Given the description of an element on the screen output the (x, y) to click on. 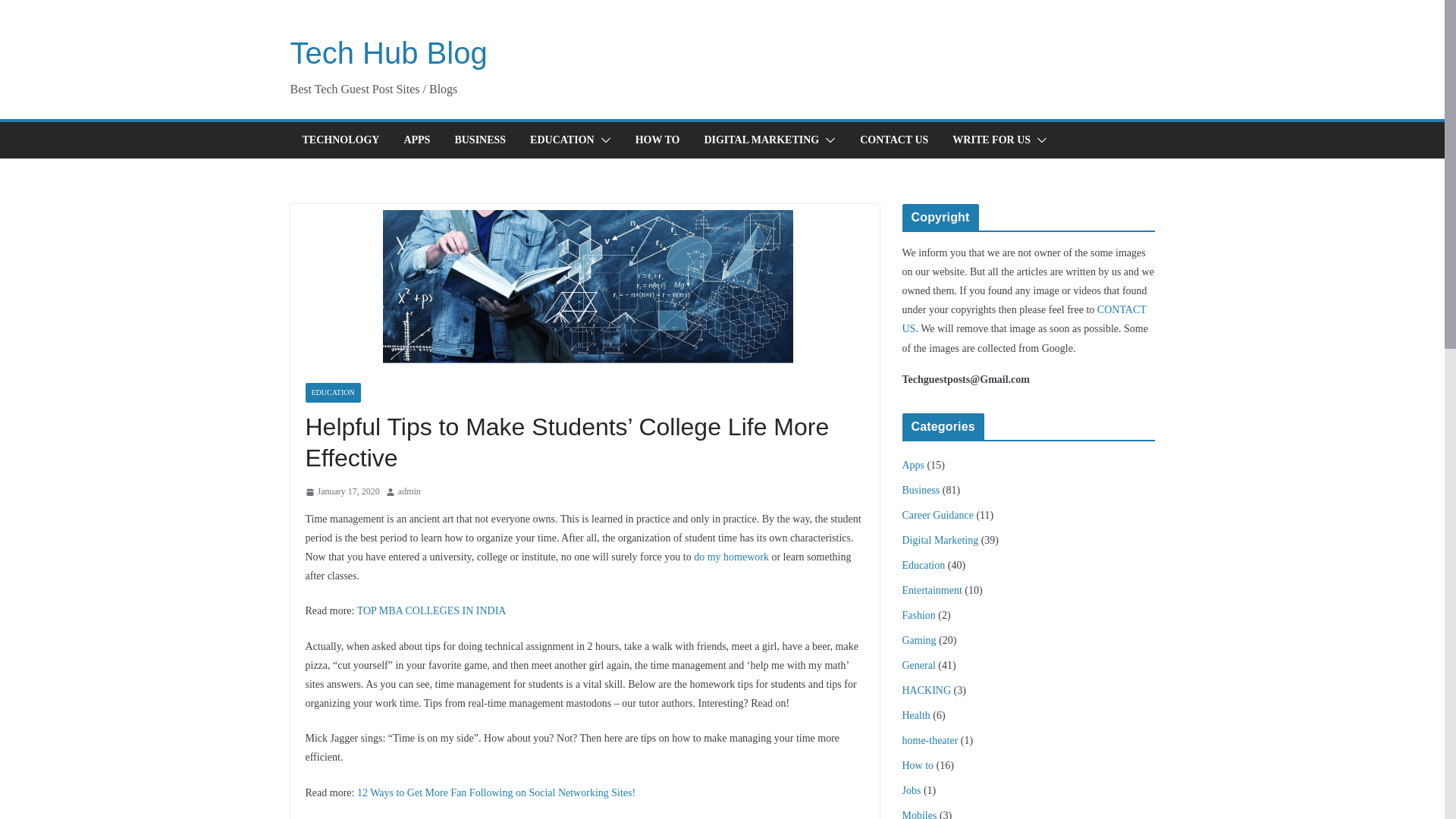
APPS (416, 139)
WRITE FOR US (991, 139)
Career Guidance (938, 514)
EDUCATION (331, 392)
TOP MBA COLLEGES IN INDIA (431, 610)
Business (921, 490)
TOP MBA COLLEGES IN INDIA (431, 610)
January 17, 2020 (341, 492)
Tech Hub Blog (387, 52)
